Given the description of an element on the screen output the (x, y) to click on. 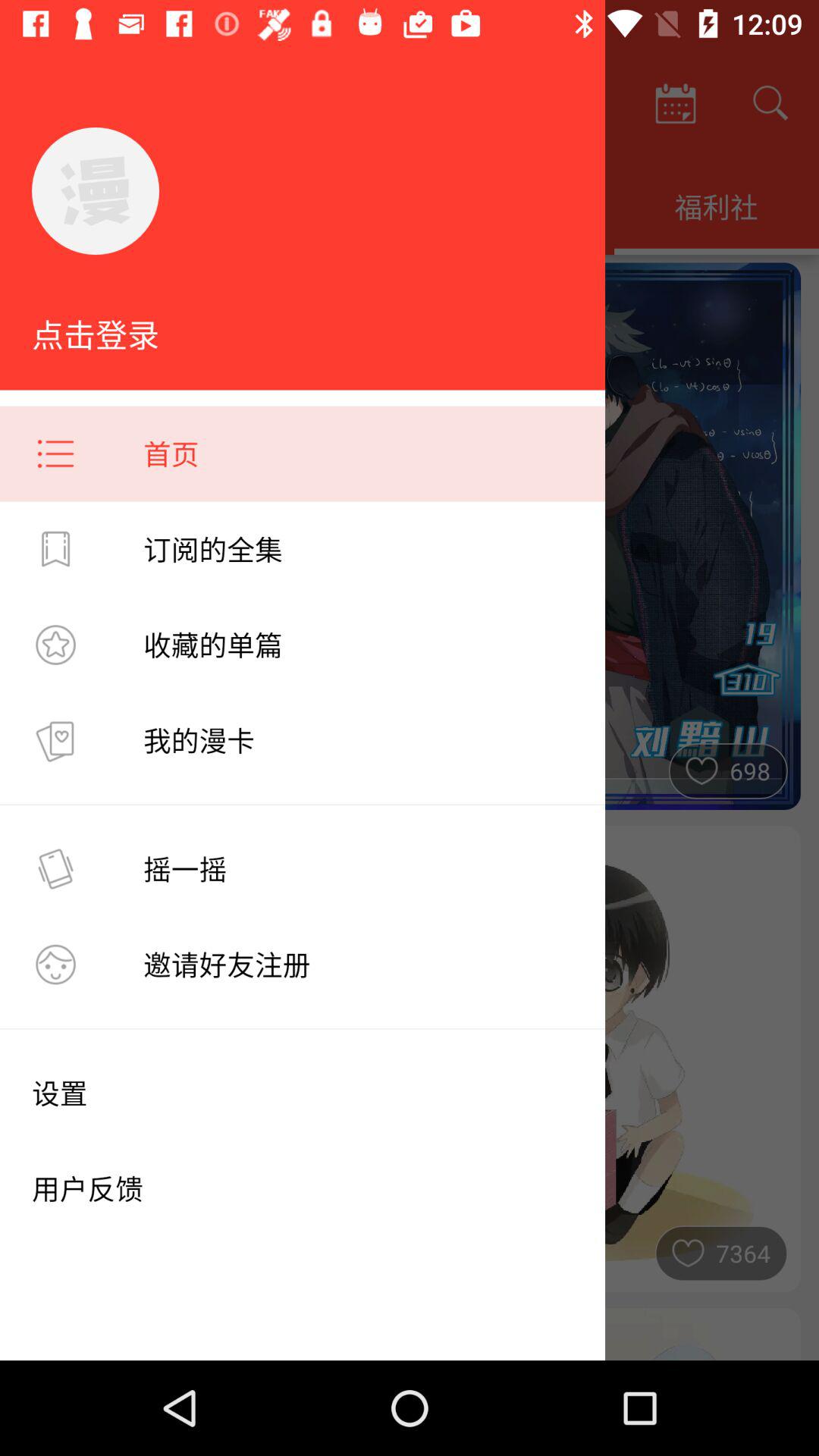
click on the heart symbol to the left of the numeric 7364 (688, 1248)
click on the calendar icon which is to the left of search icon (675, 103)
